Given the description of an element on the screen output the (x, y) to click on. 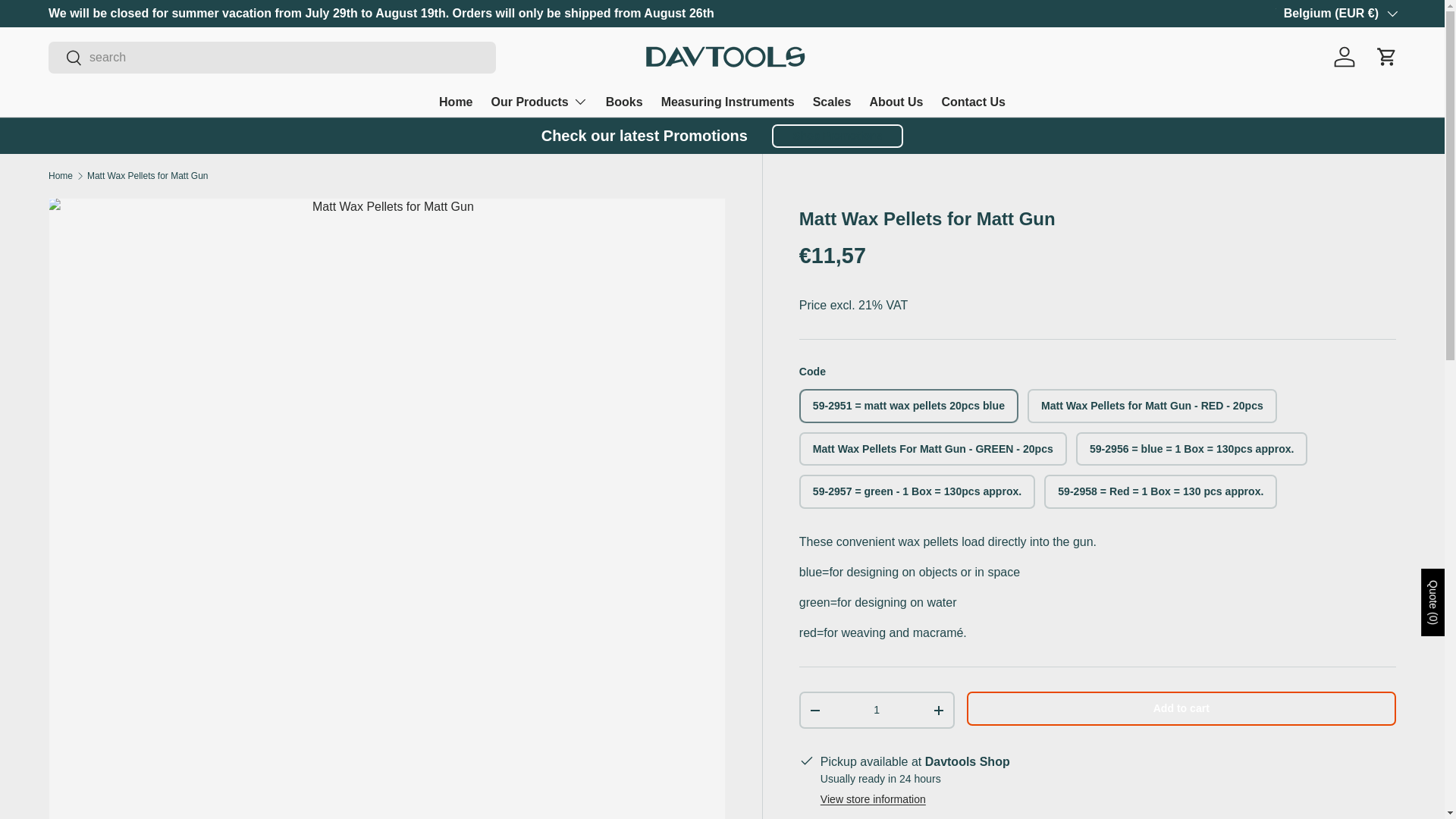
Log in (1344, 56)
Our Products (540, 101)
Skip to content (69, 21)
1 (876, 709)
Cart (1386, 56)
Home (455, 101)
Search (65, 58)
